Given the description of an element on the screen output the (x, y) to click on. 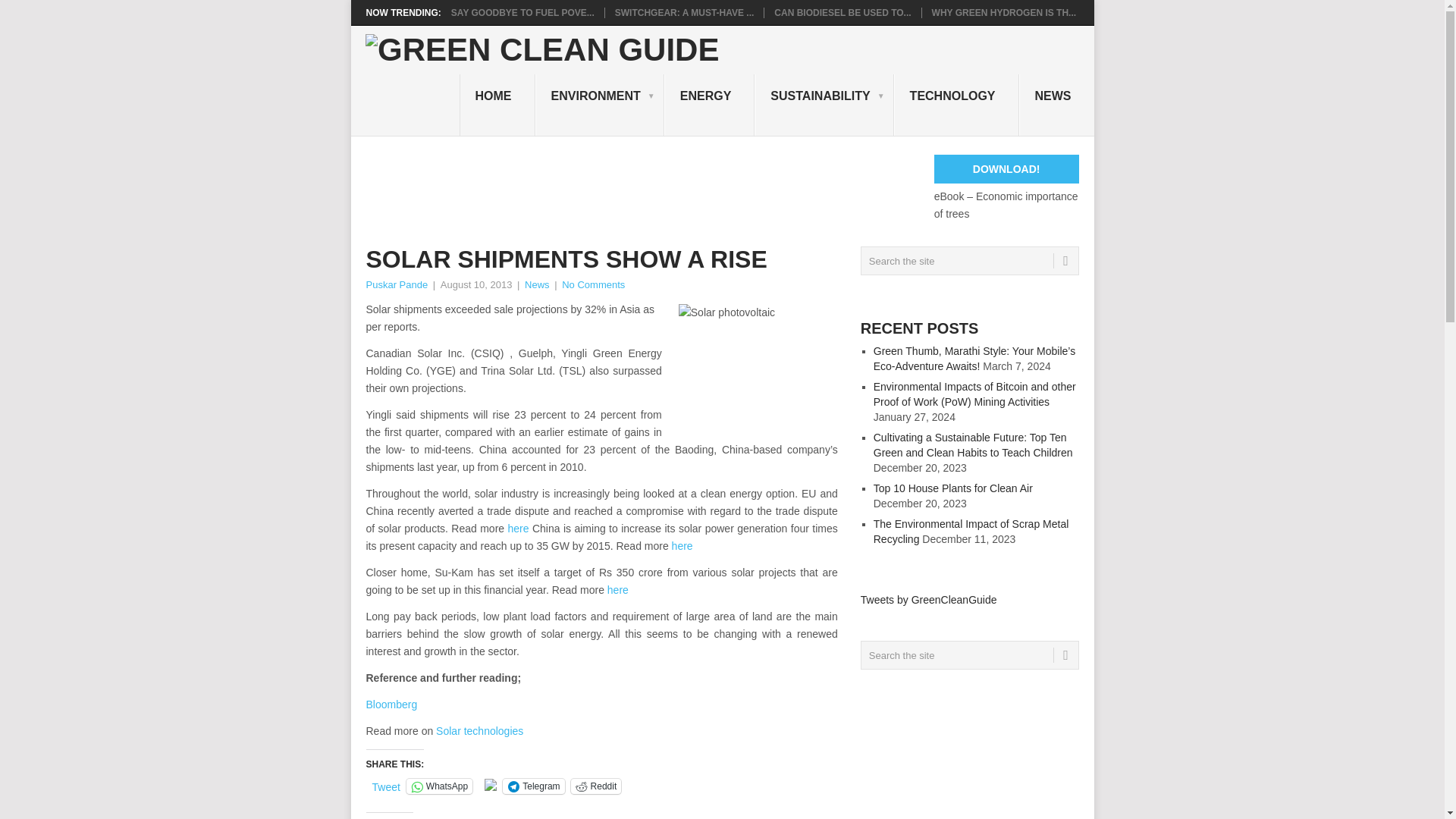
News (537, 284)
here (682, 545)
Search the site (969, 260)
Telegram (533, 785)
TECHNOLOGY (956, 105)
WHY GREEN HYDROGEN IS TH... (1003, 12)
Puskar Pande (396, 284)
Click to share on Reddit (595, 785)
HOME (497, 105)
Posts by Puskar Pande (396, 284)
Click to share on WhatsApp (438, 785)
NEWS (1056, 105)
ENERGY (709, 105)
Reddit (595, 785)
